Given the description of an element on the screen output the (x, y) to click on. 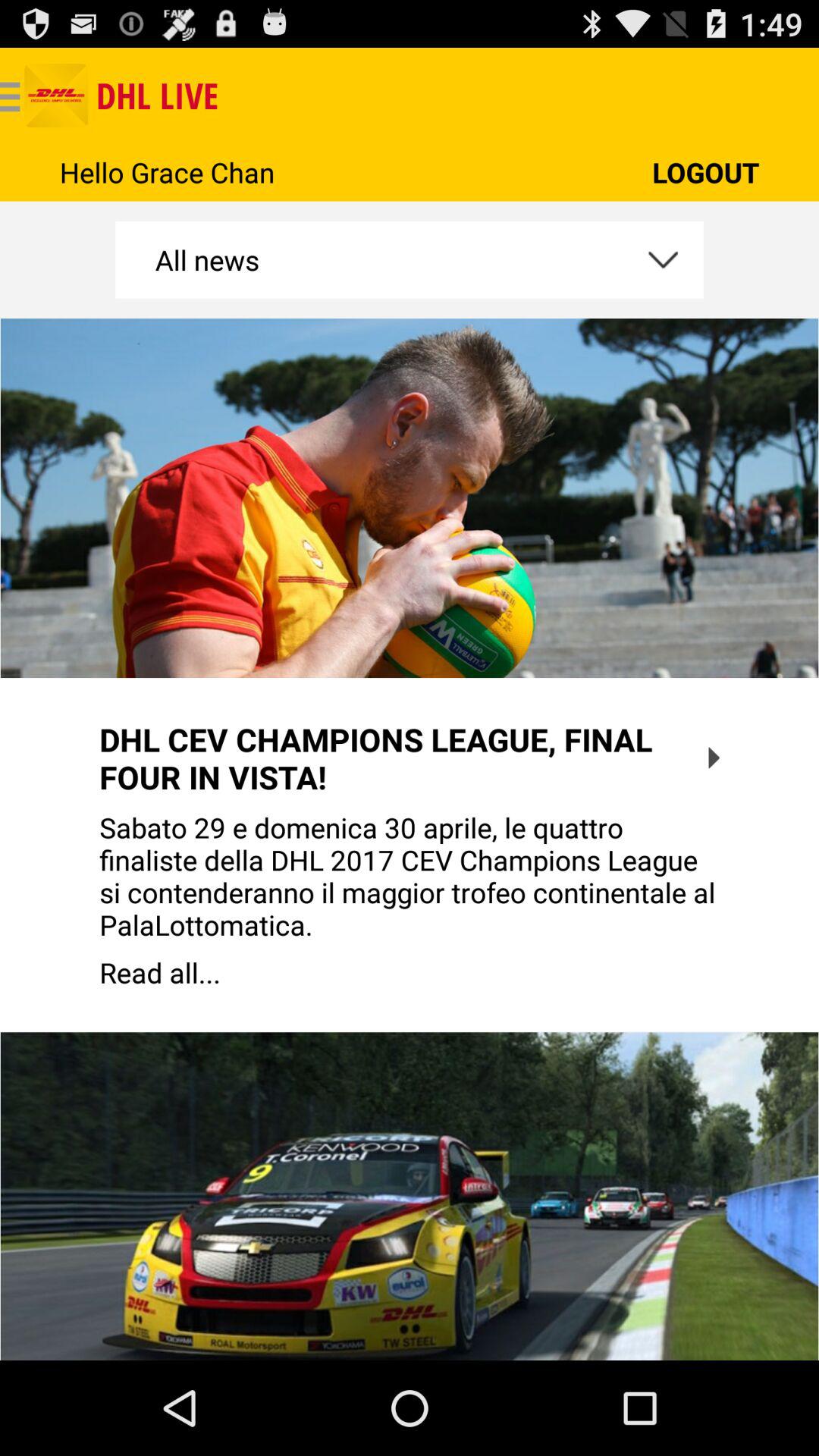
press icon above the read all... app (409, 875)
